Given the description of an element on the screen output the (x, y) to click on. 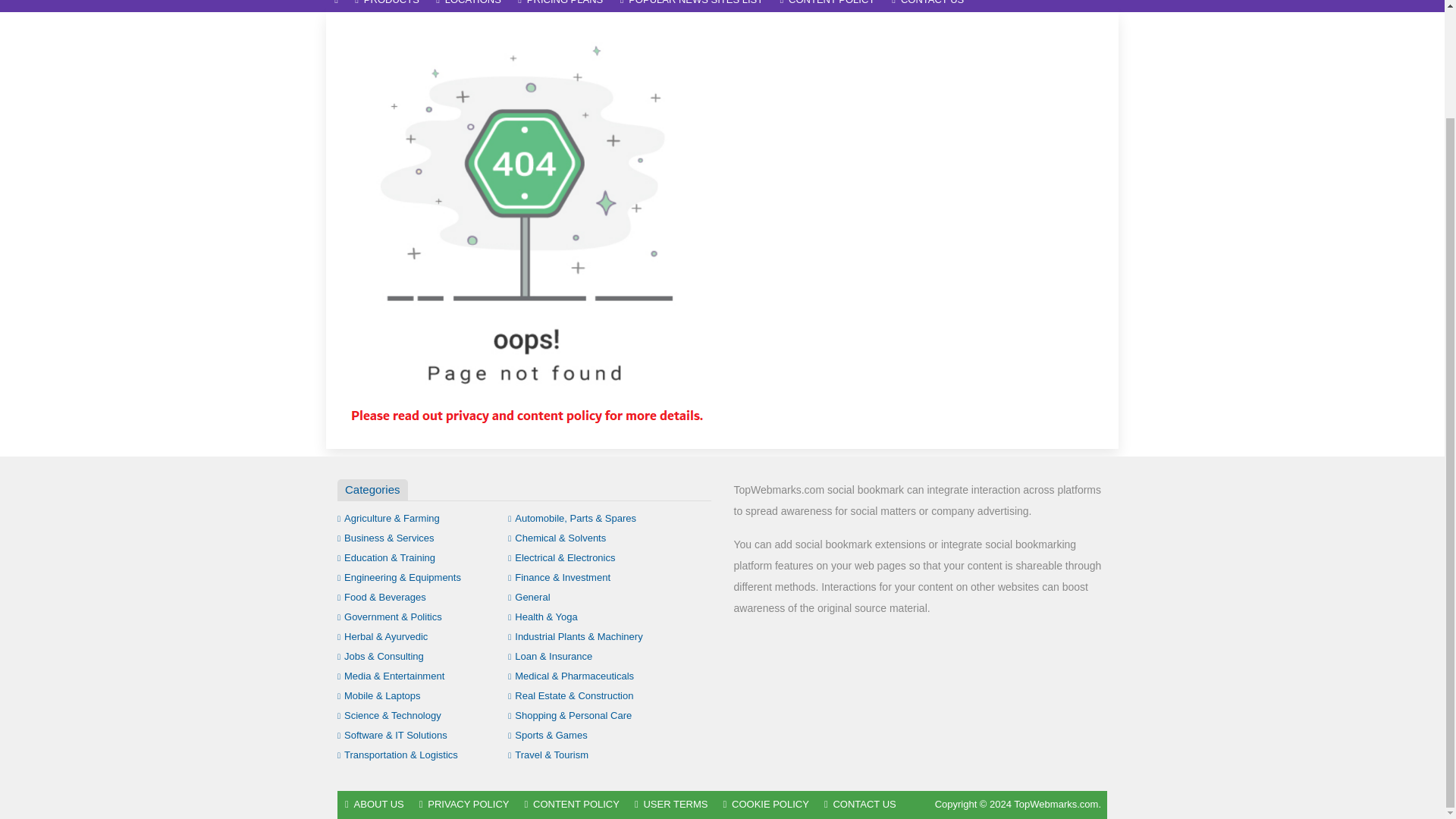
POPULAR NEWS SITES LIST (691, 6)
CONTACT US (927, 6)
PRICING PLANS (560, 6)
HOME (336, 6)
General (529, 596)
PRODUCTS (387, 6)
LOCATIONS (468, 6)
CONTENT POLICY (827, 6)
